Given the description of an element on the screen output the (x, y) to click on. 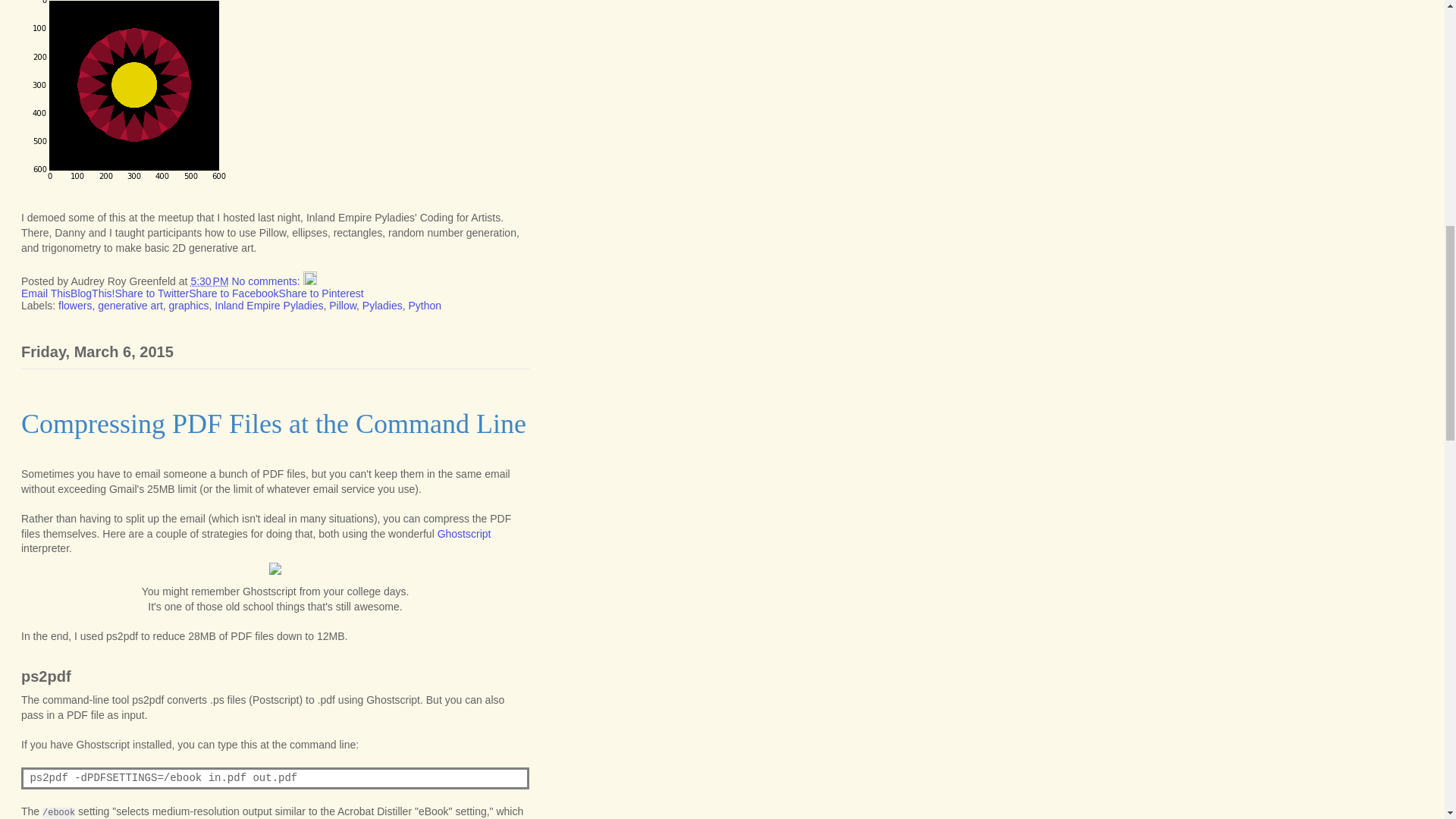
Email This (45, 293)
Flower Experiment 1 by Audrey Roy, on Flickr (128, 187)
Compressing PDF Files at the Command Line (273, 423)
flowers (74, 305)
Pillow (342, 305)
Inland Empire Pyladies (268, 305)
No comments: (266, 281)
Share to Facebook (233, 293)
Share to Pinterest (321, 293)
Share to Twitter (152, 293)
generative art (130, 305)
graphics (188, 305)
Share to Pinterest (321, 293)
Ghostscript (465, 533)
